Given the description of an element on the screen output the (x, y) to click on. 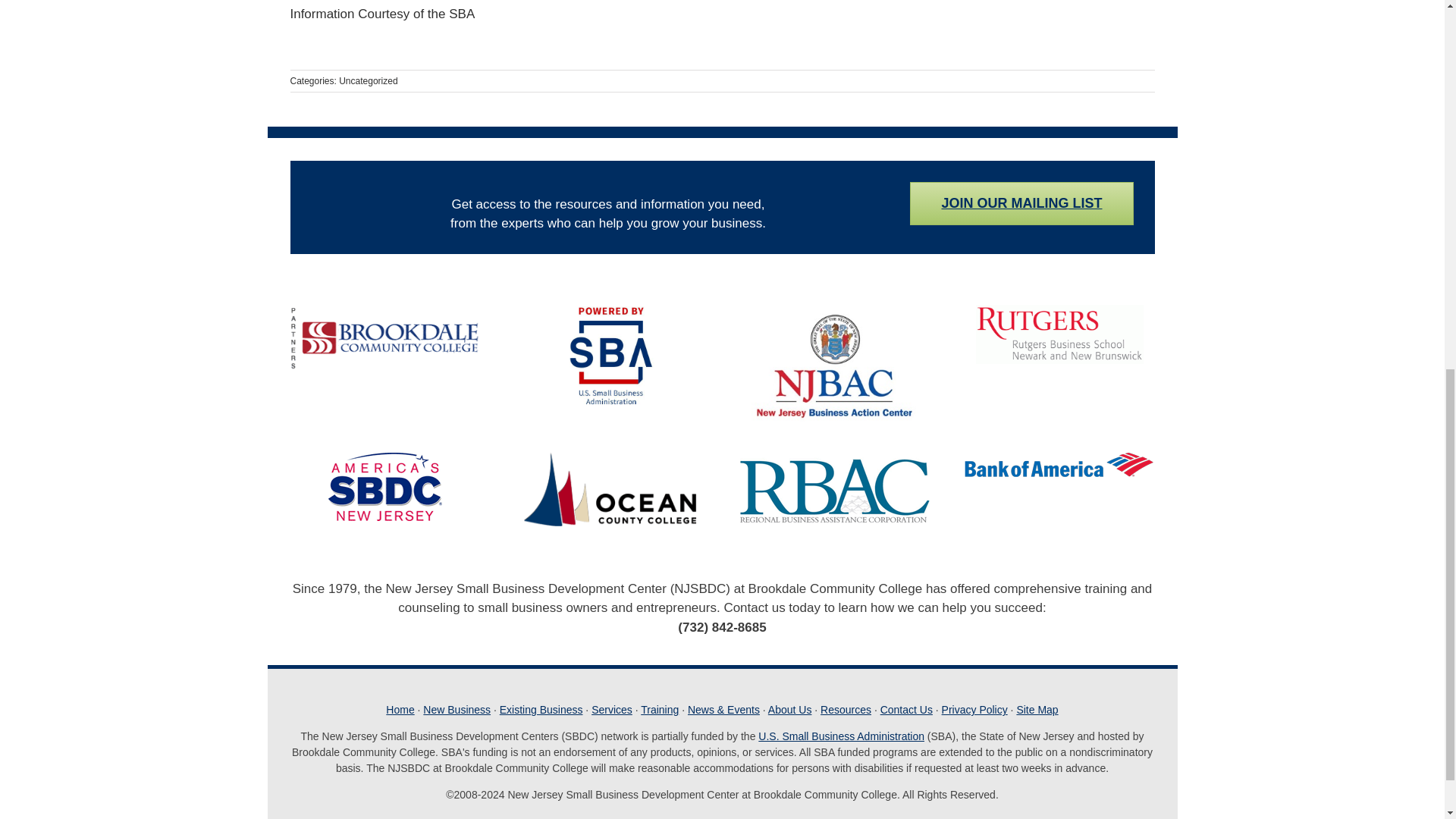
Brookdale Community College (384, 337)
U.S. Small Business Administration (609, 354)
Ocean County College (609, 489)
Rutgers Business School (1058, 333)
New Jersey Business Action Center (834, 364)
America's Small Business Development Center New Jersey (384, 486)
